Given the description of an element on the screen output the (x, y) to click on. 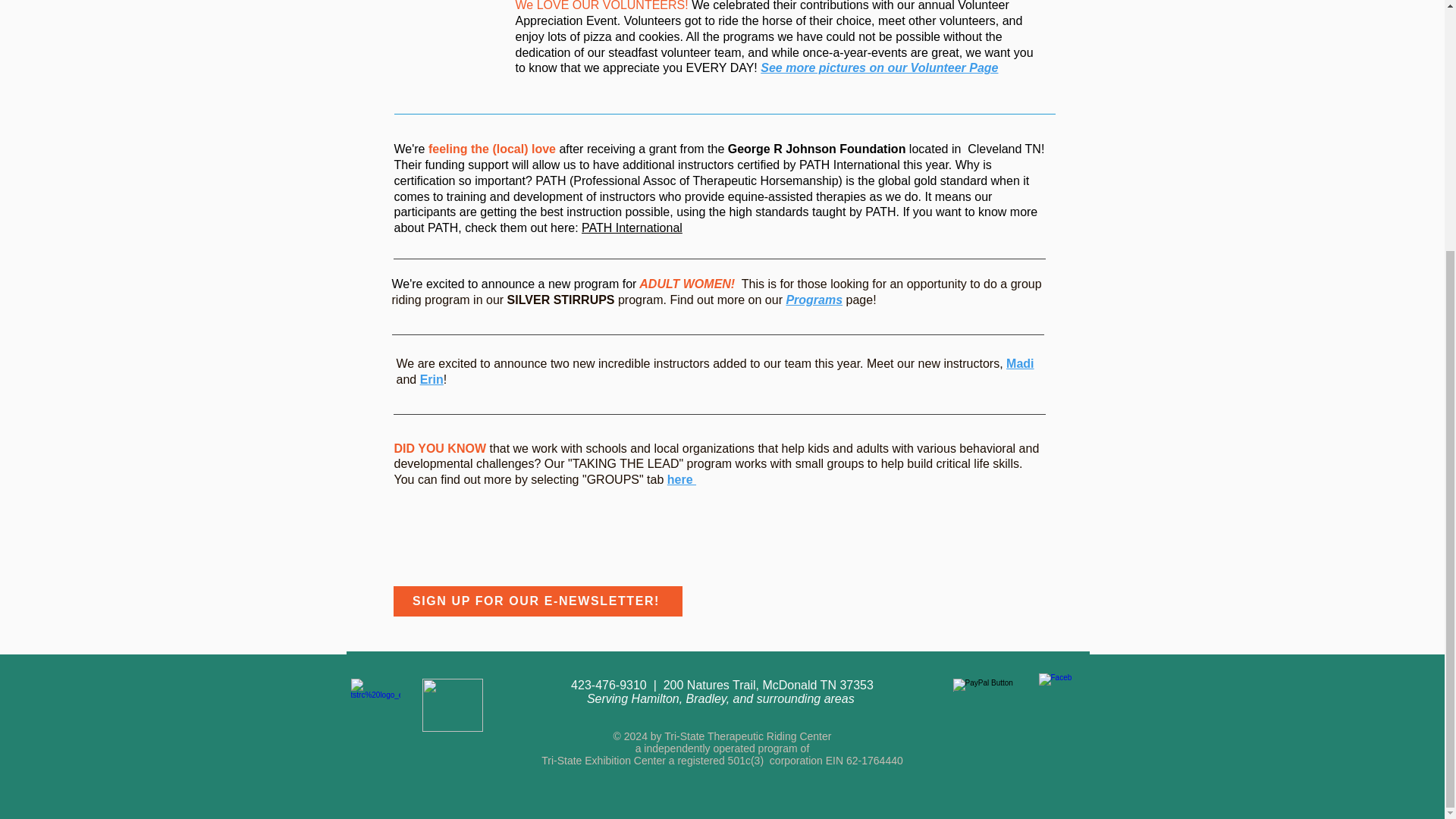
PATH International (631, 227)
Programs (814, 299)
See more pictures on our Volunteer Page (878, 67)
here  (680, 479)
Erin (432, 379)
Madi (1019, 363)
Screen Shot 2023-03-08 at 8.35.30 PM.png (451, 705)
SIGN UP FOR OUR E-NEWSLETTER! (537, 601)
